Given the description of an element on the screen output the (x, y) to click on. 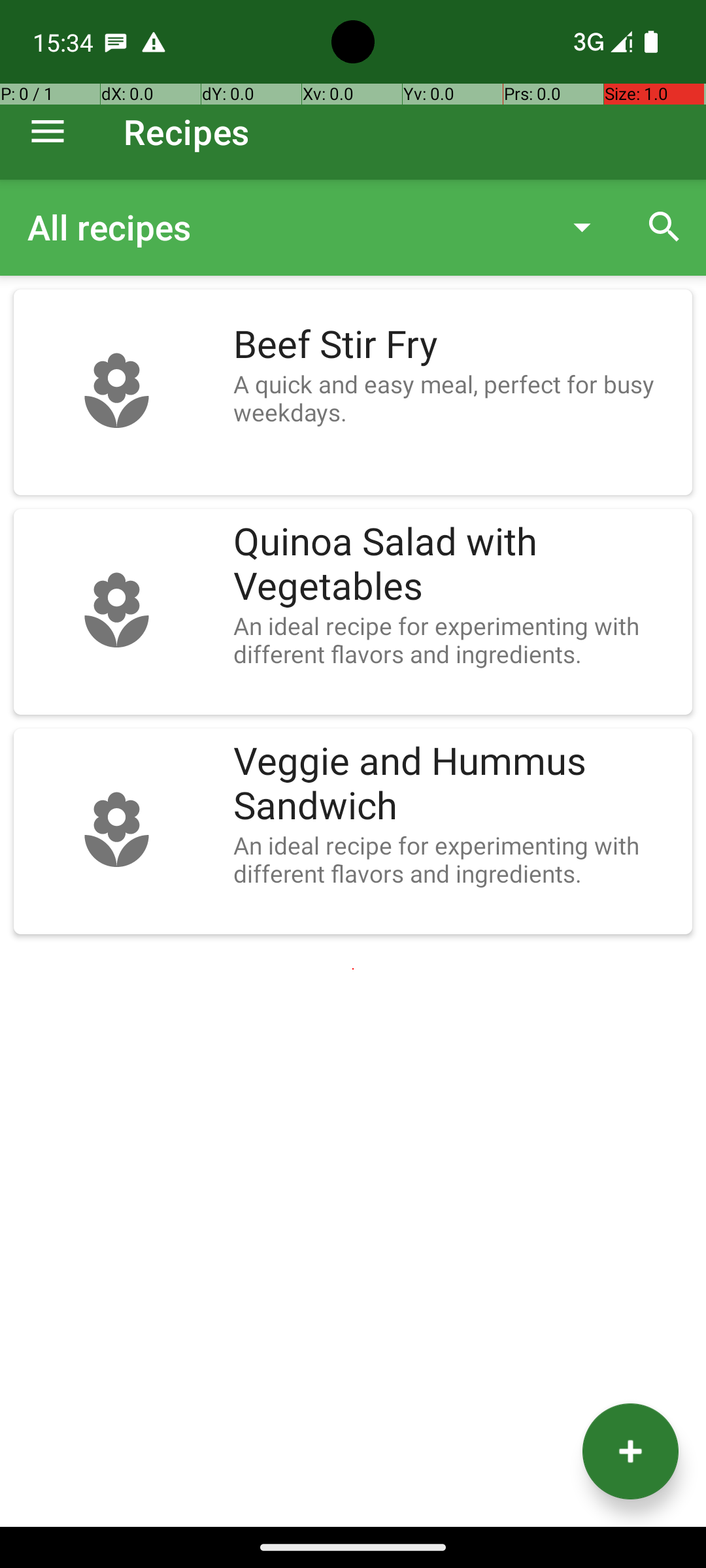
Quinoa Salad with Vegetables Element type: android.widget.TextView (455, 564)
Veggie and Hummus Sandwich Element type: android.widget.TextView (455, 783)
